Given the description of an element on the screen output the (x, y) to click on. 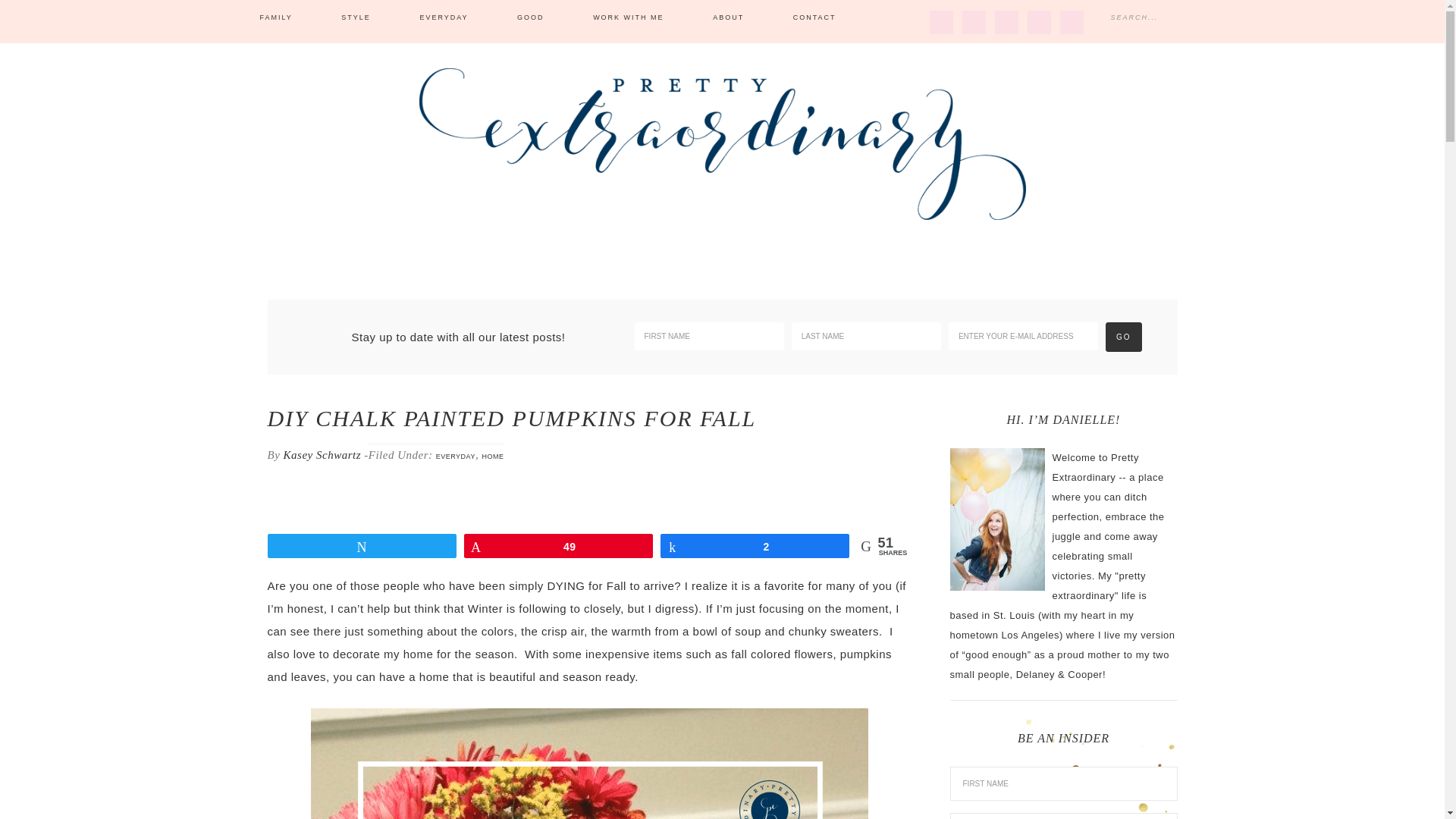
Kasey Schwartz (322, 454)
FAMILY (274, 18)
WORK WITH ME (628, 18)
ABOUT (728, 18)
EVERYDAY (455, 456)
EVERYDAY (443, 18)
GO (1123, 337)
GO (1123, 337)
STYLE (355, 18)
2 (754, 545)
CONTACT (814, 18)
GOOD (531, 18)
